Given the description of an element on the screen output the (x, y) to click on. 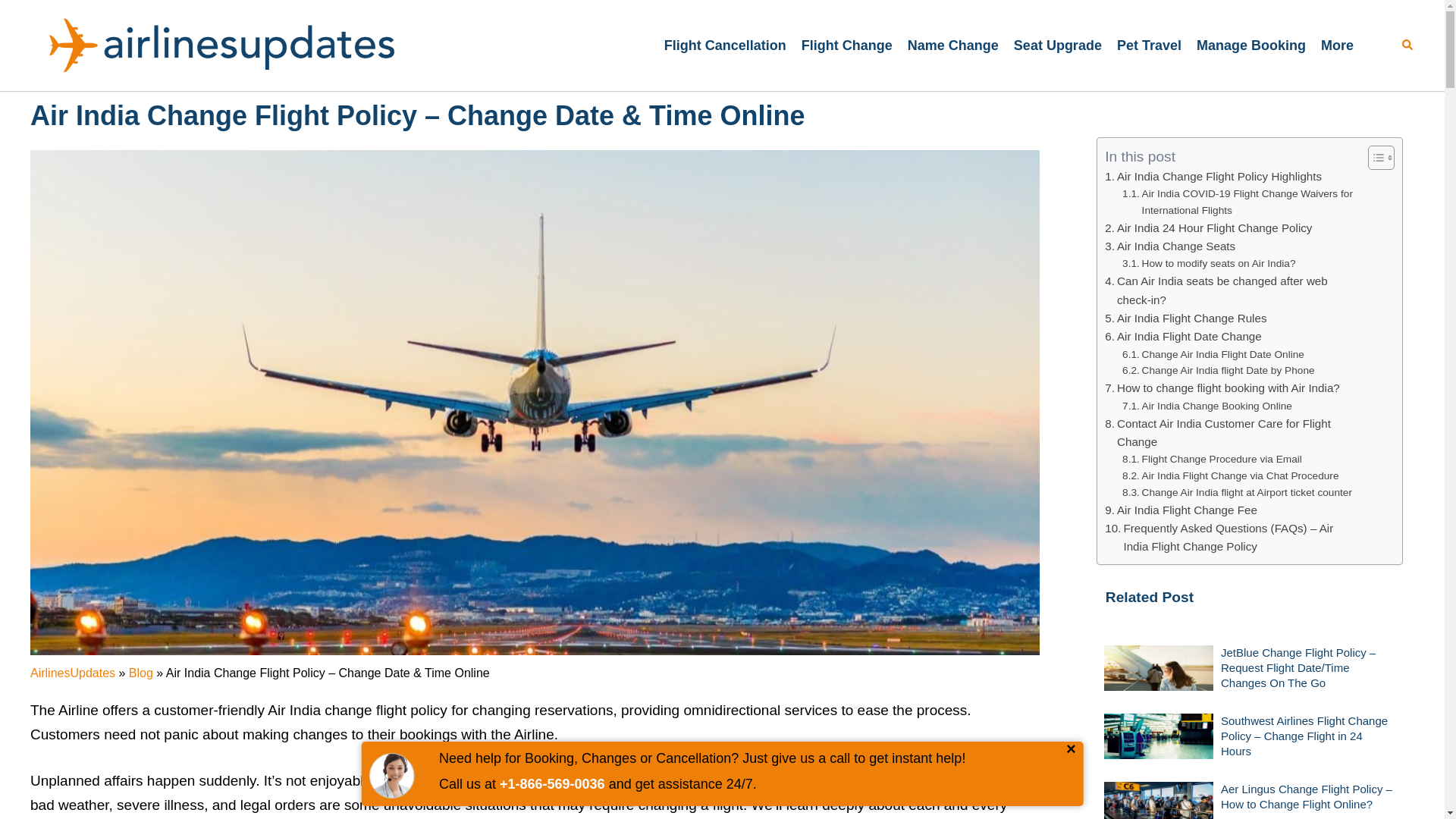
AirlinesUpdates (72, 672)
Flight Cancellation (724, 45)
Name Change (952, 45)
Pet Travel (1148, 45)
Seat Upgrade (1057, 45)
Blog (140, 672)
More (1337, 45)
Manage Booking (1251, 45)
Search (1407, 45)
Flight Change (847, 45)
airlinesupdates.com (223, 43)
